Given the description of an element on the screen output the (x, y) to click on. 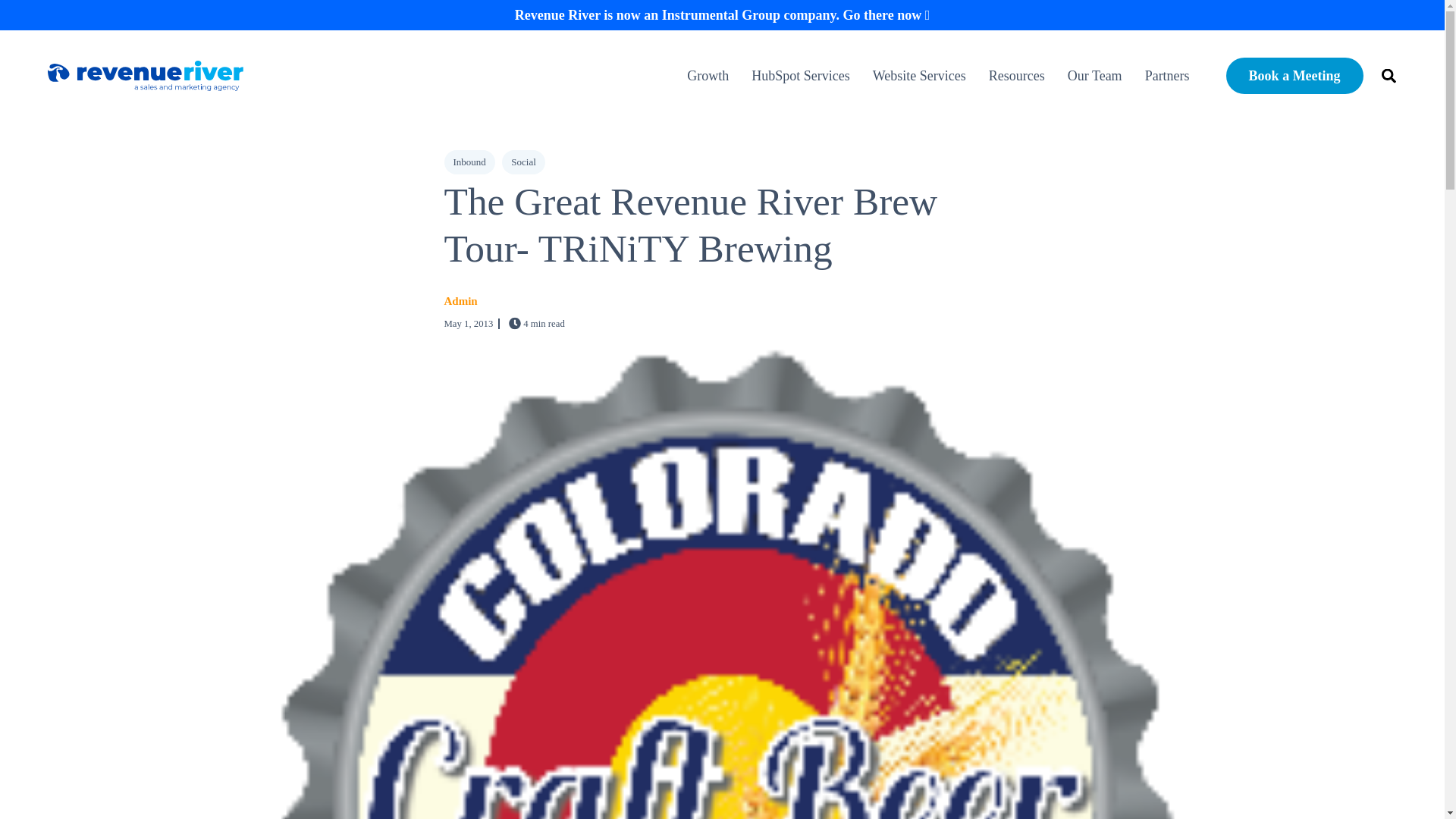
Inbound (469, 161)
Growth (713, 75)
Resources (1016, 75)
Our Team (1095, 75)
Book a Meeting (1293, 75)
HubSpot Services (800, 75)
Website Services (918, 75)
Social (523, 161)
Partners (1161, 75)
Admin (460, 301)
